Given the description of an element on the screen output the (x, y) to click on. 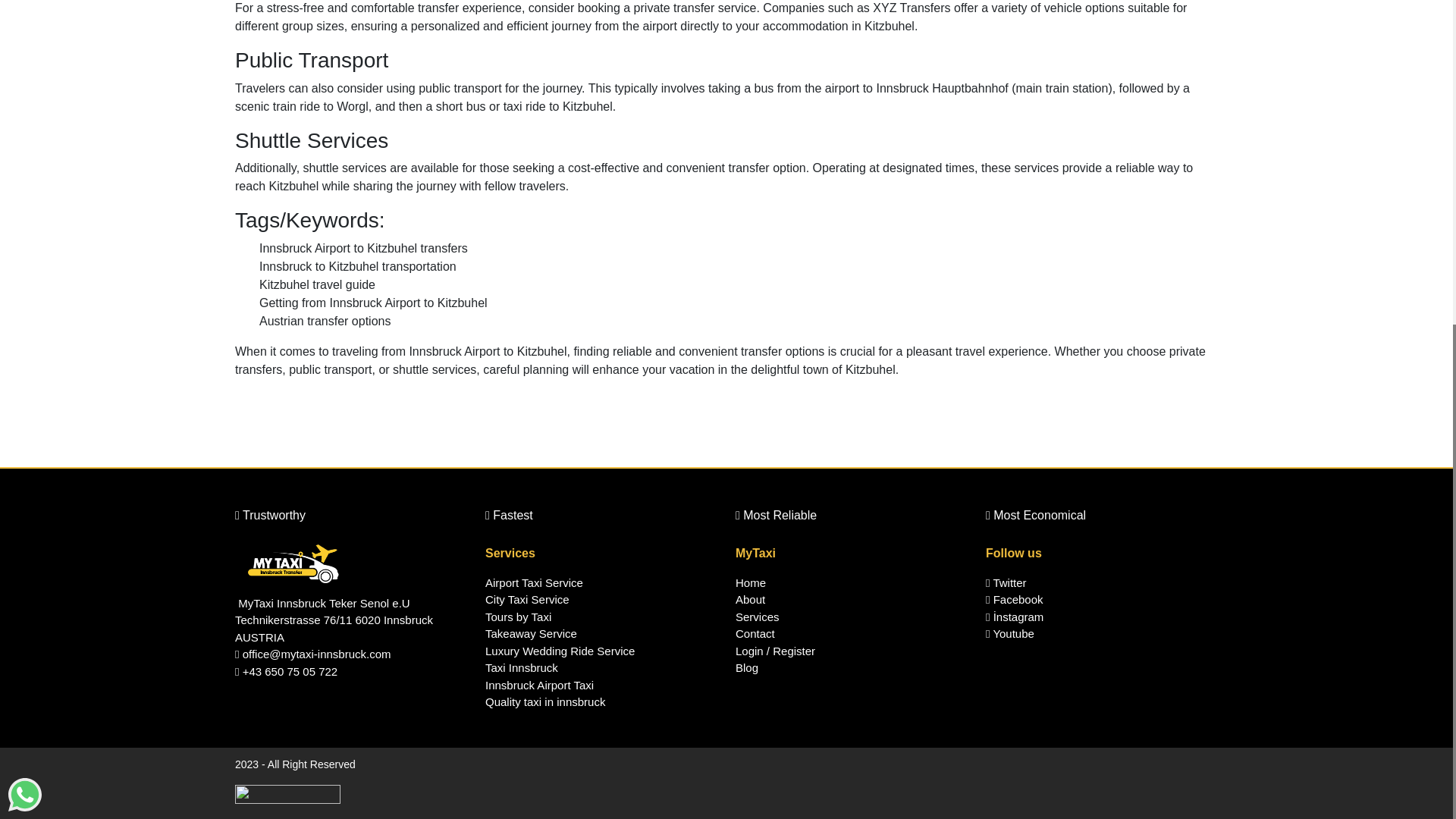
Tours by Taxi (600, 617)
City Taxi Service (600, 600)
Airport Taxi Service (600, 583)
